Given the description of an element on the screen output the (x, y) to click on. 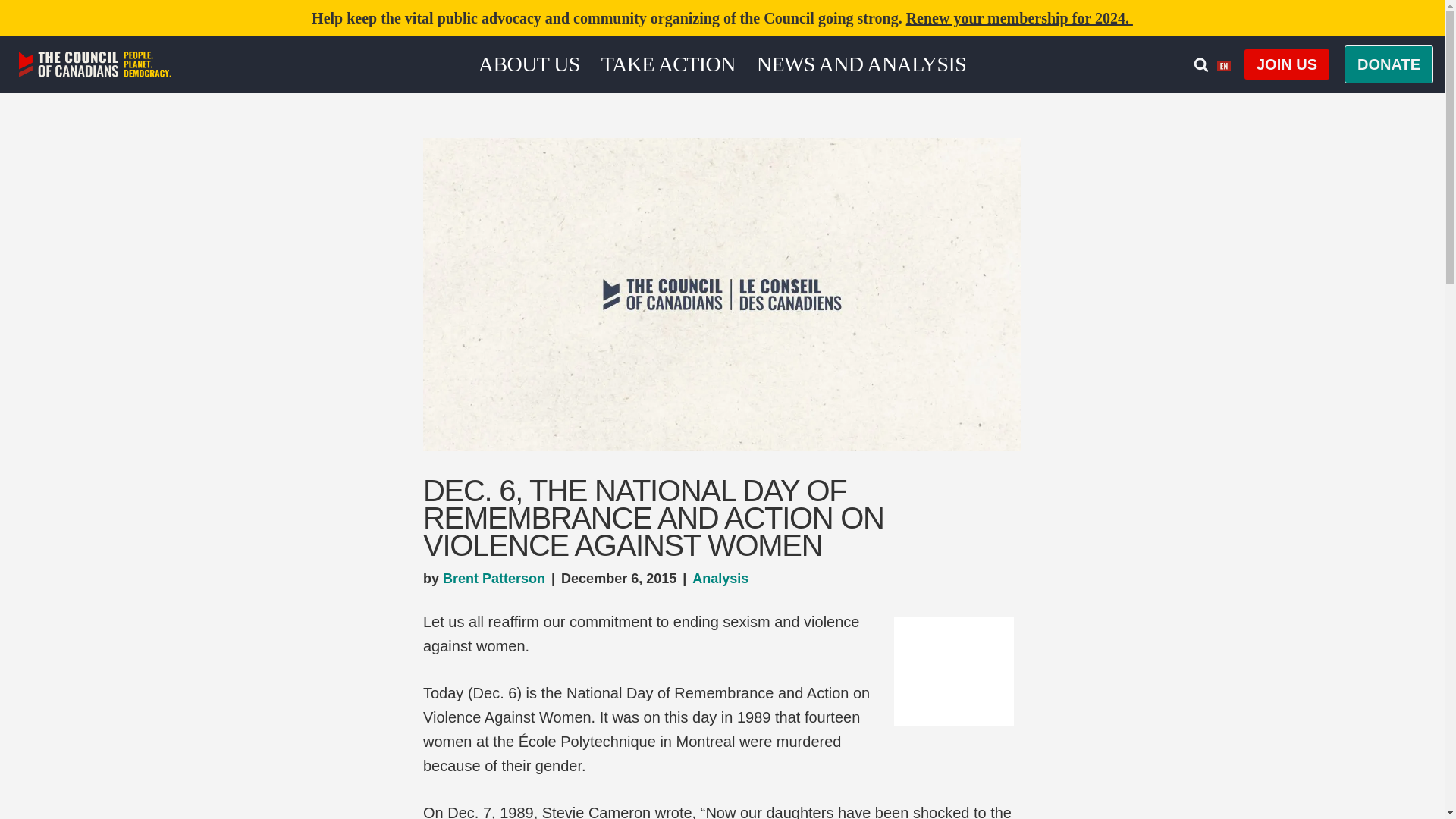
Analysis (720, 578)
DONATE (1387, 64)
NEWS AND ANALYSIS (861, 63)
Renew your membership for 2024.  (1018, 17)
TAKE ACTION (668, 63)
Posts by Brent Patterson (493, 578)
JOIN US (1286, 64)
Brent Patterson (493, 578)
ABOUT US (529, 63)
Skip to content (11, 31)
